Given the description of an element on the screen output the (x, y) to click on. 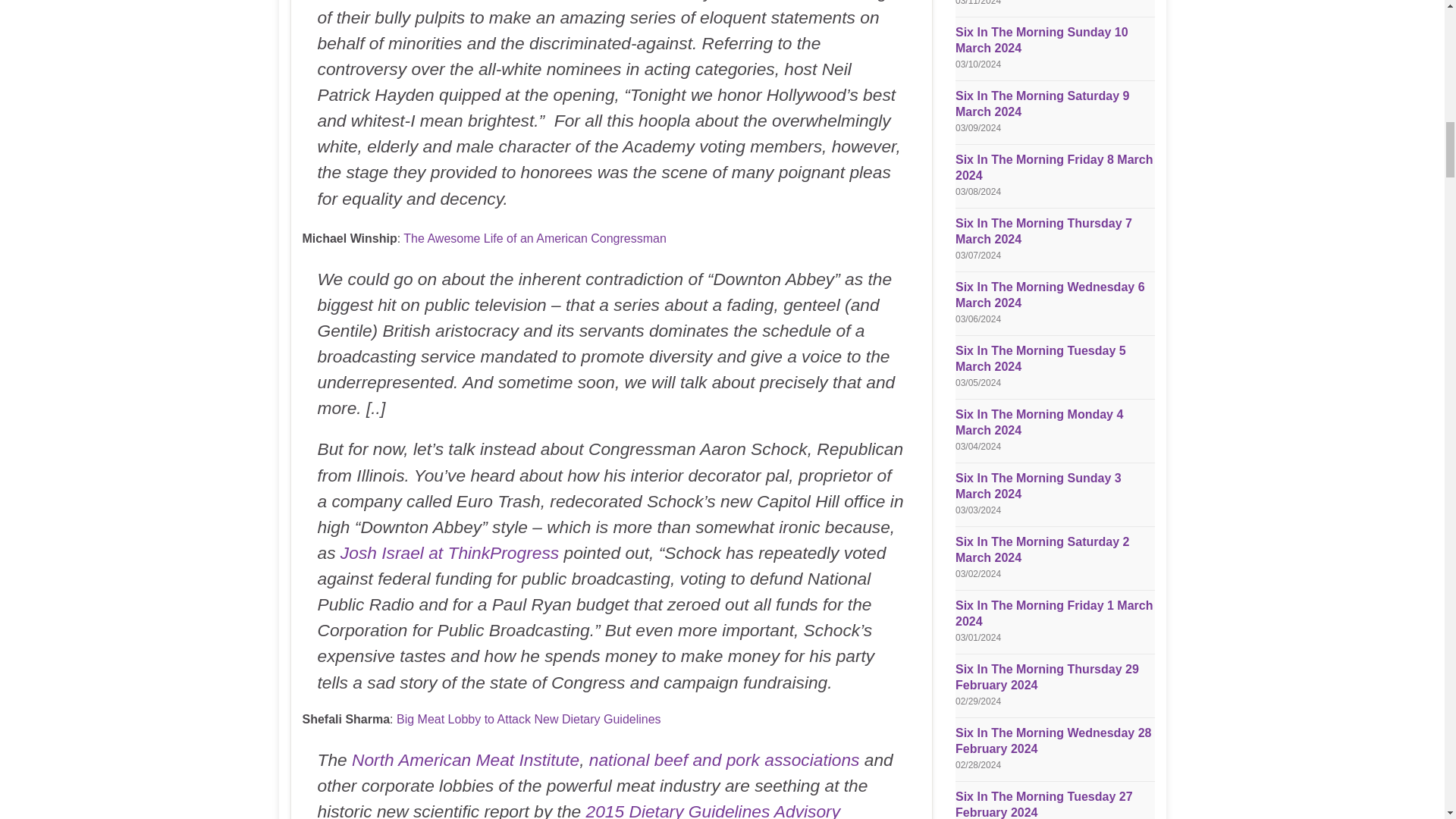
Josh Israel at ThinkProgress (449, 552)
2015 Dietary Guidelines Advisory Committee (578, 810)
Big Meat Lobby to Attack New Dietary Guidelines (528, 718)
The Awesome Life of an American Congressman (534, 237)
North American Meat Institute (465, 759)
national beef and pork associations (724, 759)
